Given the description of an element on the screen output the (x, y) to click on. 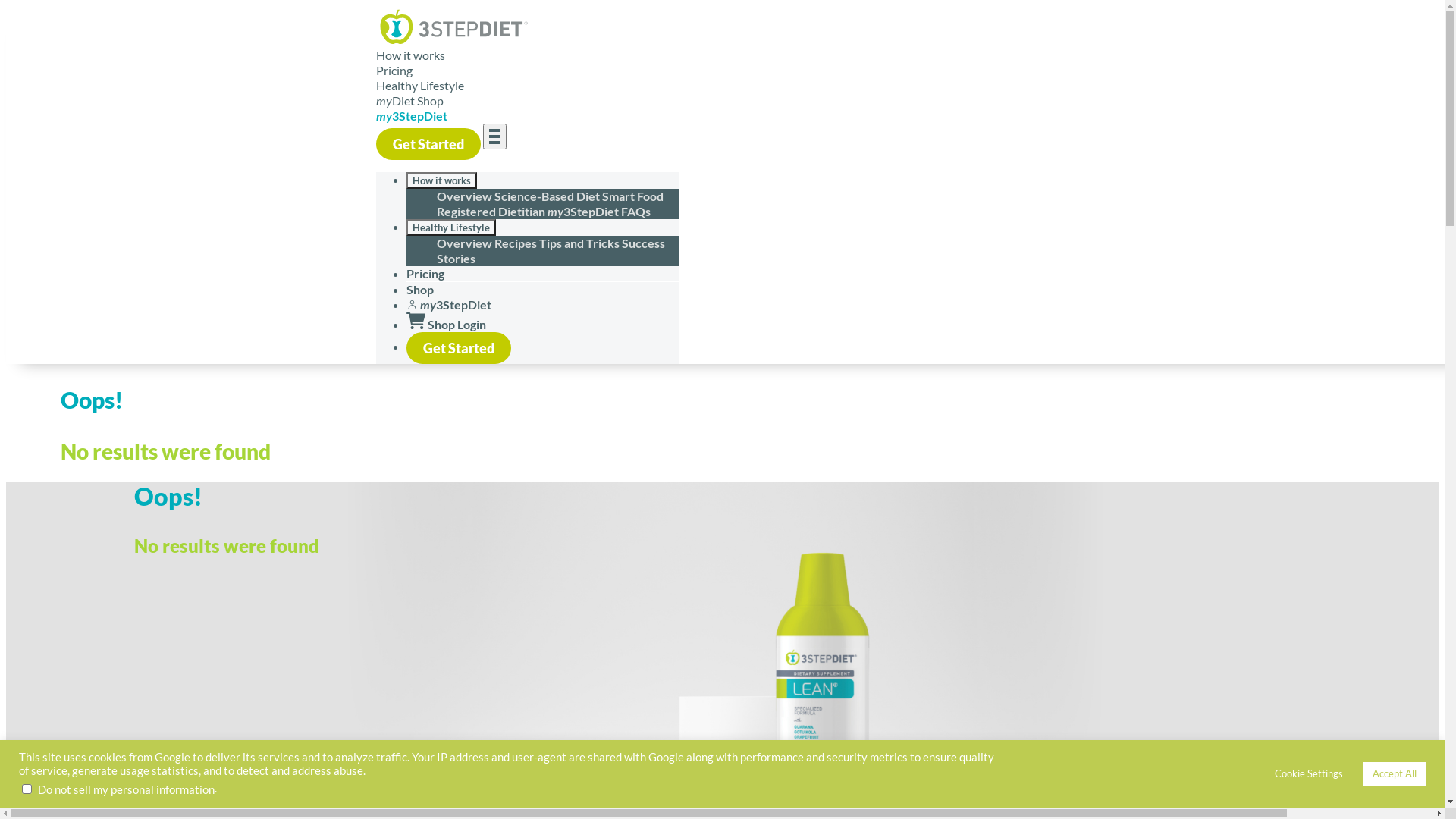
myDiet Shop Element type: text (409, 100)
Overview Element type: text (465, 242)
How it works Element type: text (441, 180)
Smart Food Element type: text (632, 195)
my3StepDiet Element type: text (448, 304)
How it works Element type: text (410, 54)
Overview Element type: text (465, 195)
Get Started Element type: text (428, 144)
Recipes Element type: text (516, 242)
Registered Dietitian Element type: text (491, 210)
Science-Based Diet Element type: text (548, 195)
Shop Login Element type: text (446, 323)
Healthy Lifestyle Element type: text (450, 227)
Cookie Settings Element type: text (1308, 773)
Pricing Element type: text (394, 69)
Accept All Element type: text (1394, 773)
Get Started Element type: text (458, 348)
Tips and Tricks Element type: text (579, 242)
my3StepDiet Element type: text (411, 115)
my3StepDiet Element type: text (584, 210)
Healthy Lifestyle Element type: text (420, 85)
Shop Element type: text (419, 289)
Pricing Element type: text (425, 273)
Success Stories Element type: text (550, 250)
FAQs Element type: text (634, 210)
